Given the description of an element on the screen output the (x, y) to click on. 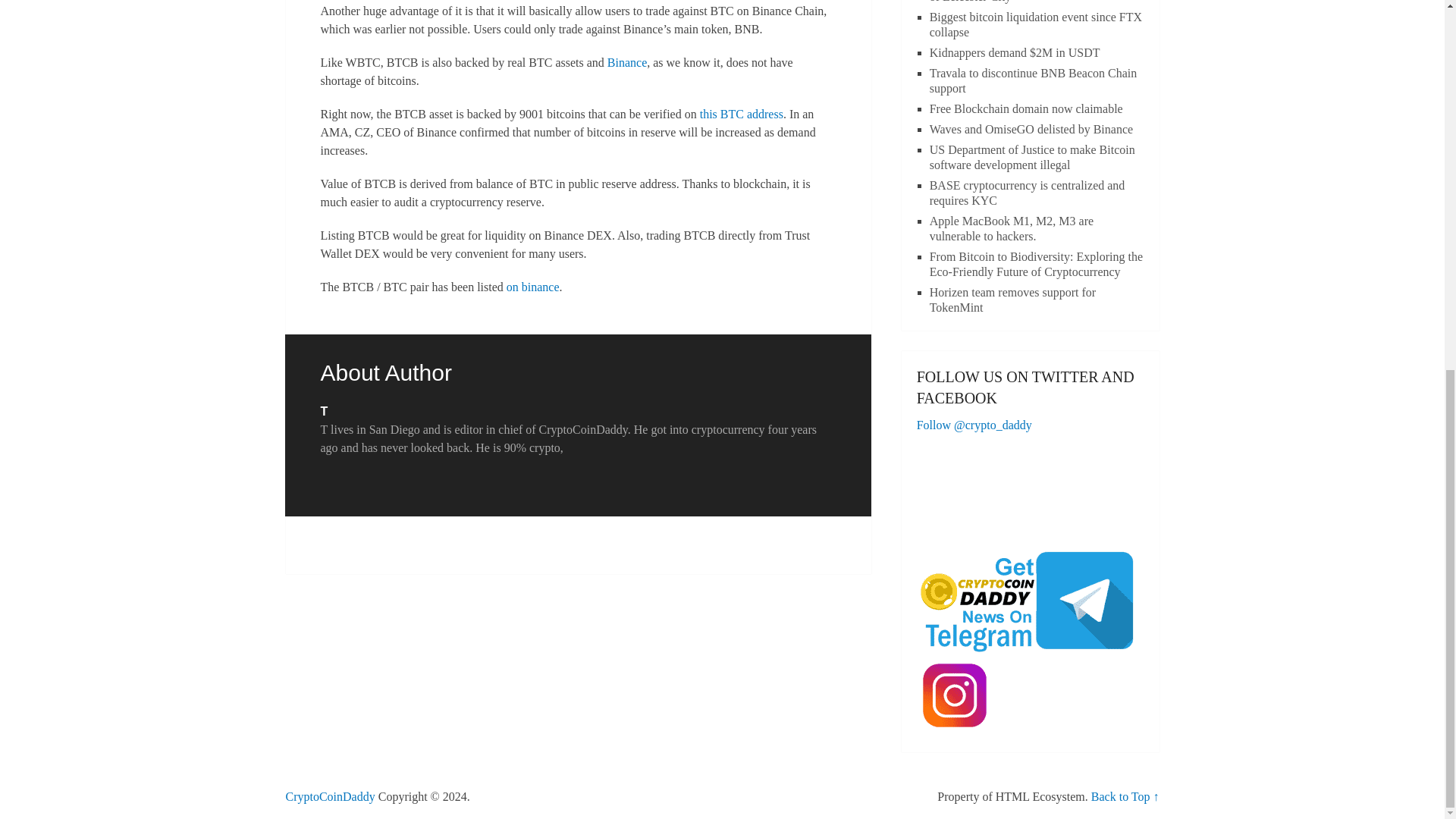
Binance (626, 62)
on binance (532, 286)
get cryptocoindaddy news on telegram (1030, 601)
Biggest bitcoin liquidation event since FTX collapse (1035, 24)
Free Blockchain domain now claimable (1026, 108)
Travala to discontinue BNB Beacon Chain support (1033, 80)
this BTC address (741, 113)
